Given the description of an element on the screen output the (x, y) to click on. 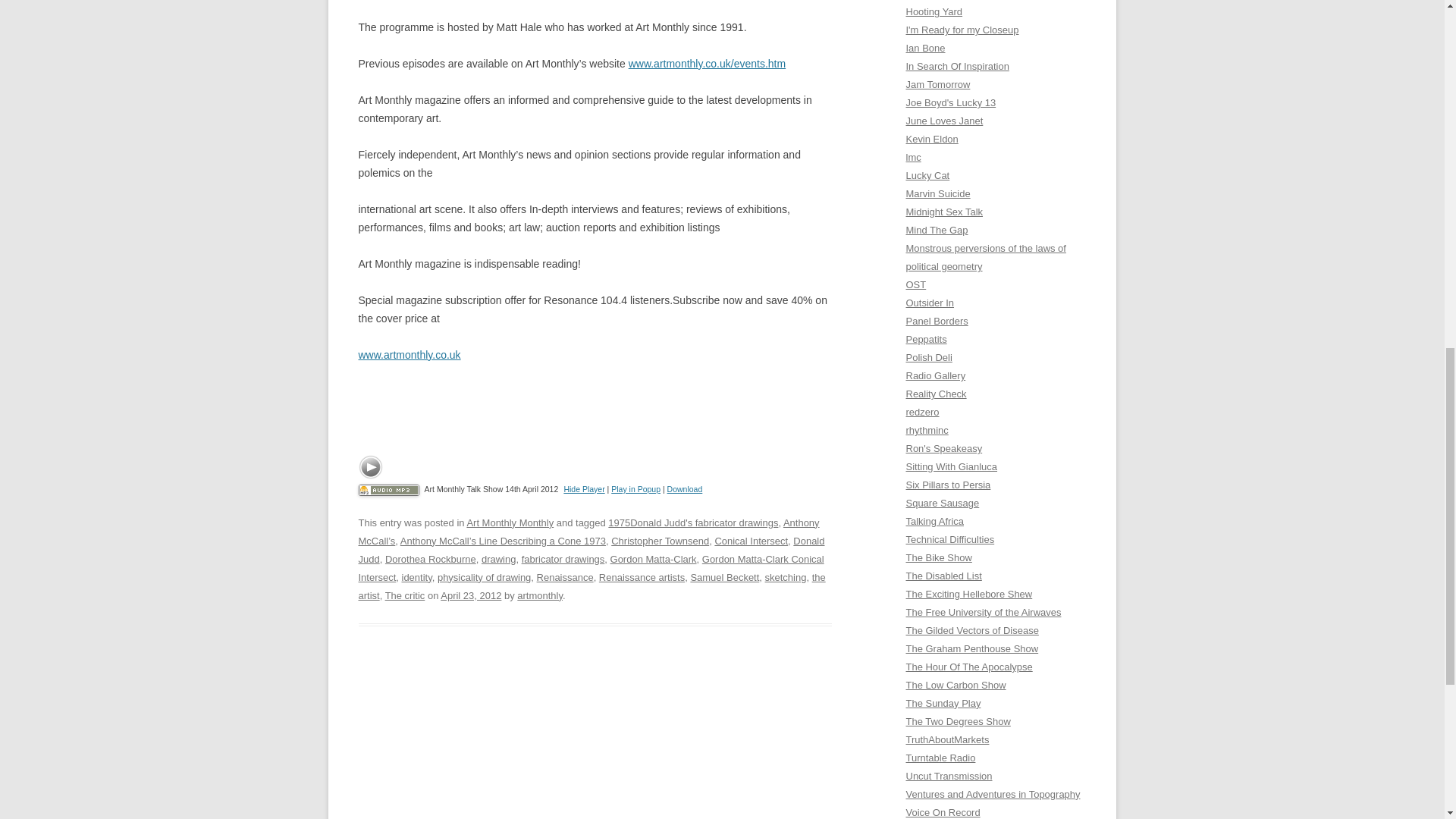
drawing (498, 559)
Gordon Matta-Clark (653, 559)
Download (684, 488)
Dorothea Rockburne (430, 559)
fabricator drawings (563, 559)
Renaissance (565, 577)
sketching (785, 577)
Renaissance artists (641, 577)
identity (416, 577)
The critic (405, 595)
Gordon Matta-Clark Conical Intersect (591, 568)
Hooting Yard (933, 11)
April 23, 2012 (470, 595)
10:55 am (470, 595)
physicality of drawing (484, 577)
